Given the description of an element on the screen output the (x, y) to click on. 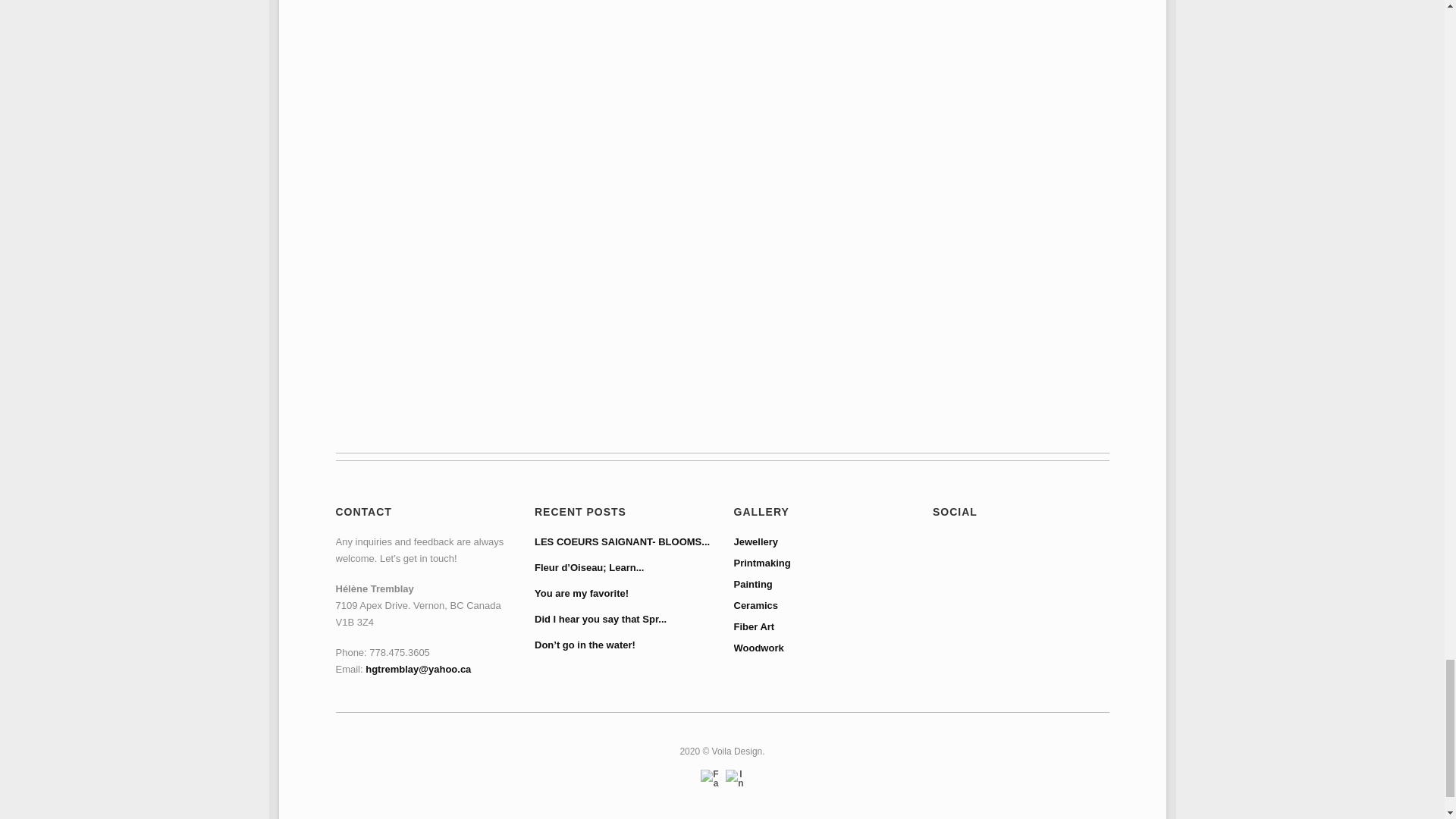
Facebook (709, 778)
Instagram (734, 778)
